Given the description of an element on the screen output the (x, y) to click on. 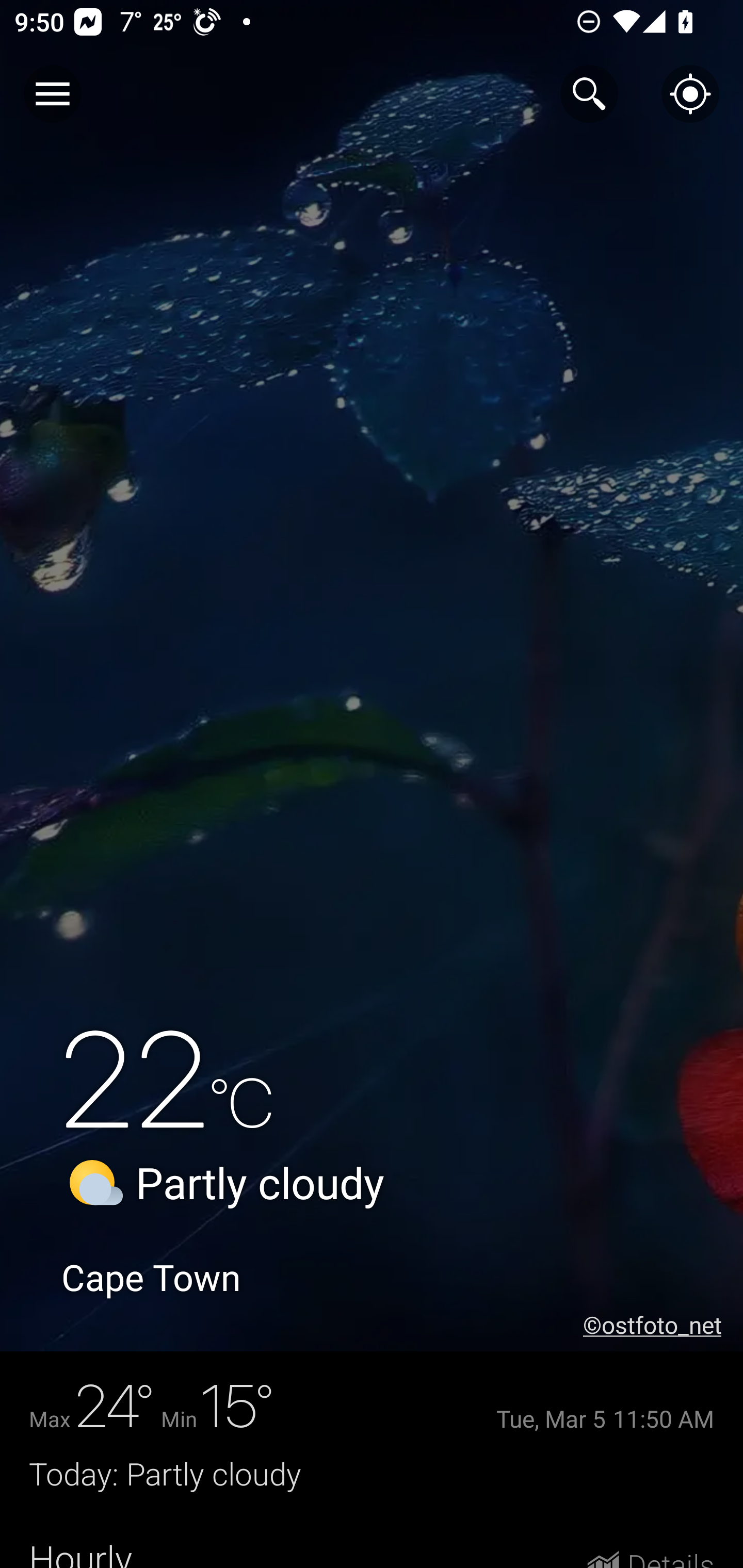
©ostfoto_net (662, 1324)
